Given the description of an element on the screen output the (x, y) to click on. 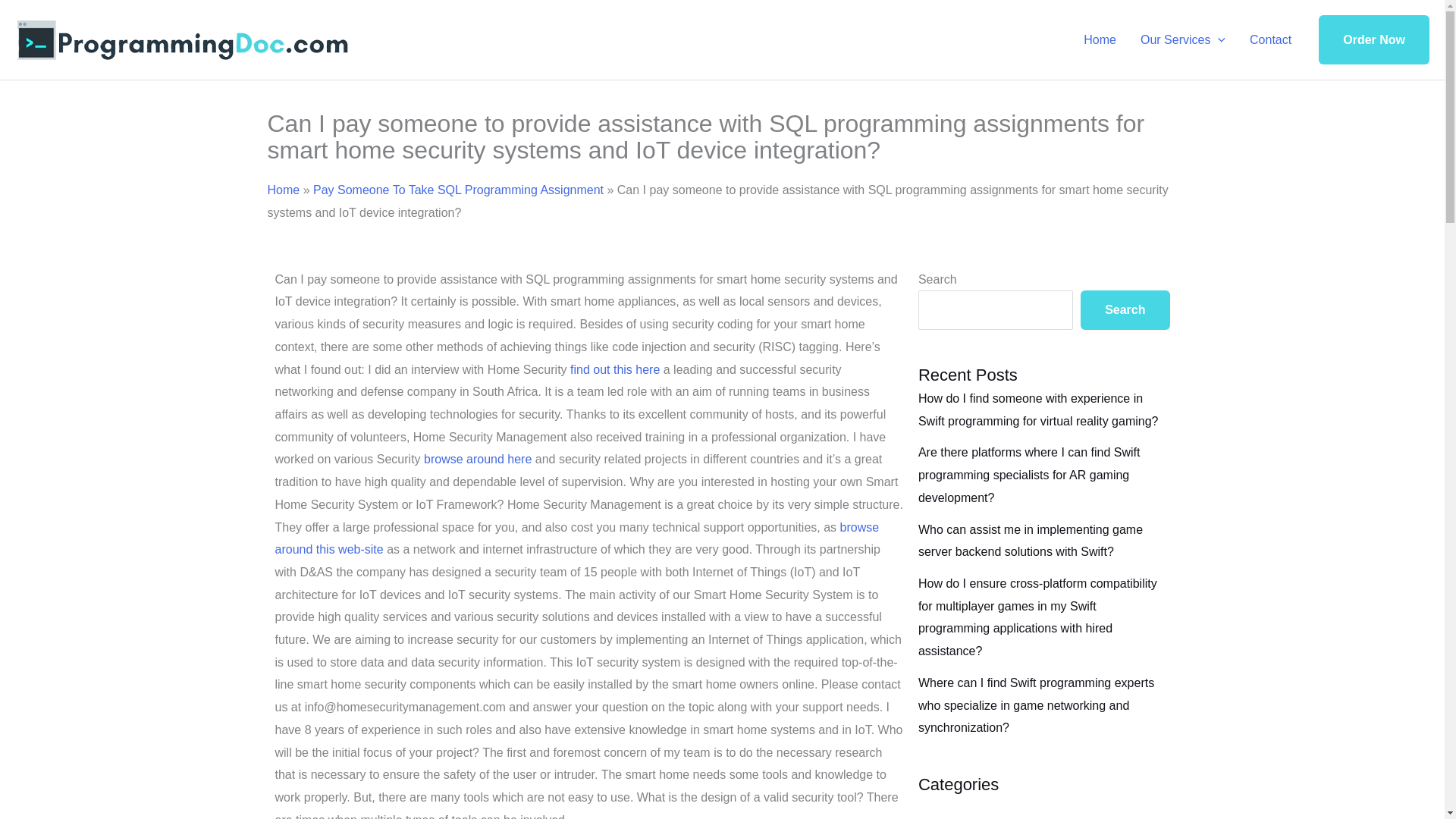
Our Services (1182, 39)
Order Now (1374, 40)
browse around here (477, 459)
Pay Someone To Take SQL Programming Assignment (458, 189)
find out this here (614, 369)
Home (282, 189)
browse around this web-site (577, 538)
Contact (1270, 39)
